Given the description of an element on the screen output the (x, y) to click on. 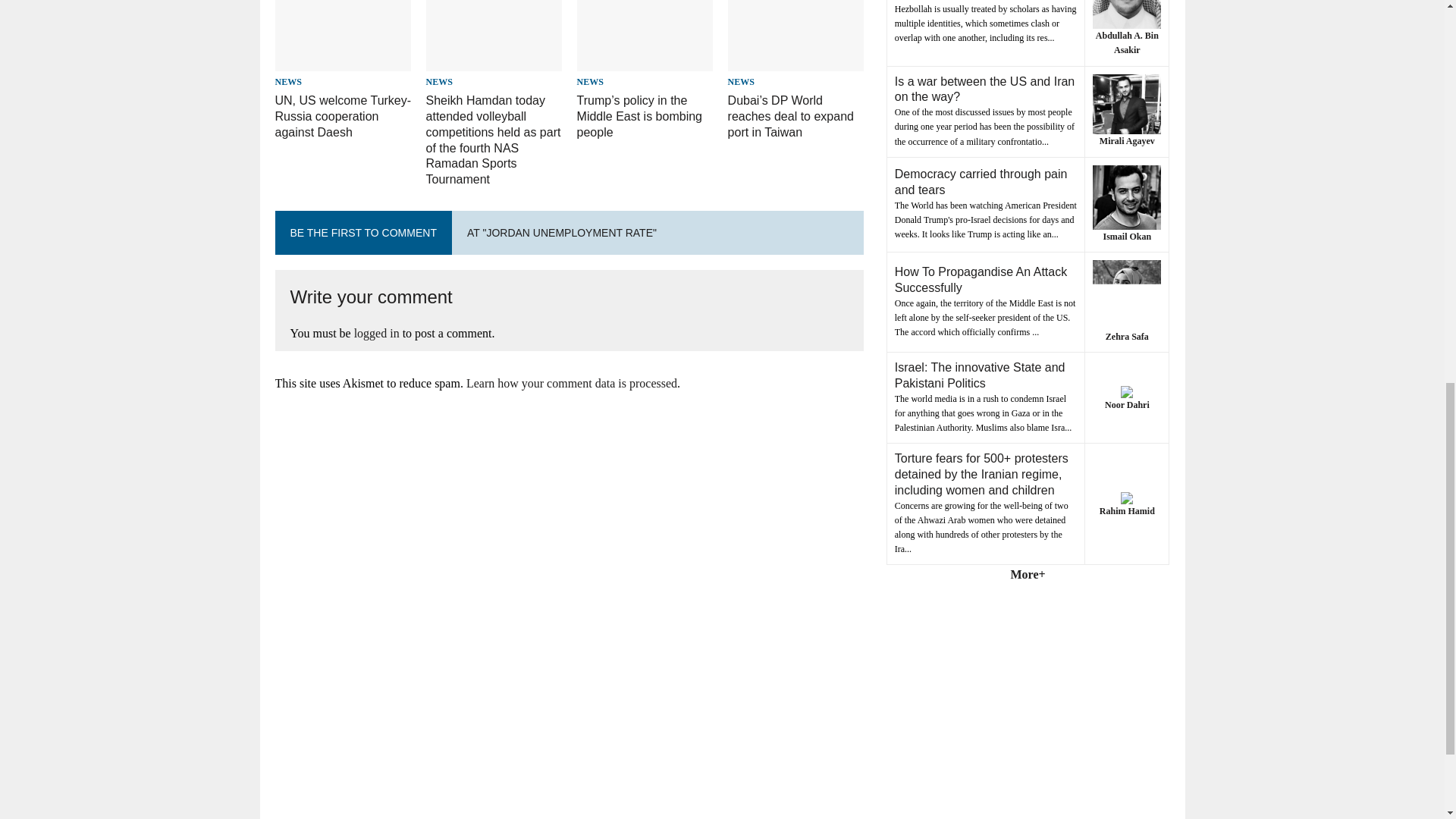
UN, US welcome Turkey-Russia cooperation against Daesh (342, 116)
NEWS (439, 81)
UN, US welcome Turkey-Russia cooperation against Daesh (342, 116)
UN, US welcome Turkey-Russia cooperation against Daesh (342, 60)
NEWS (288, 81)
